Given the description of an element on the screen output the (x, y) to click on. 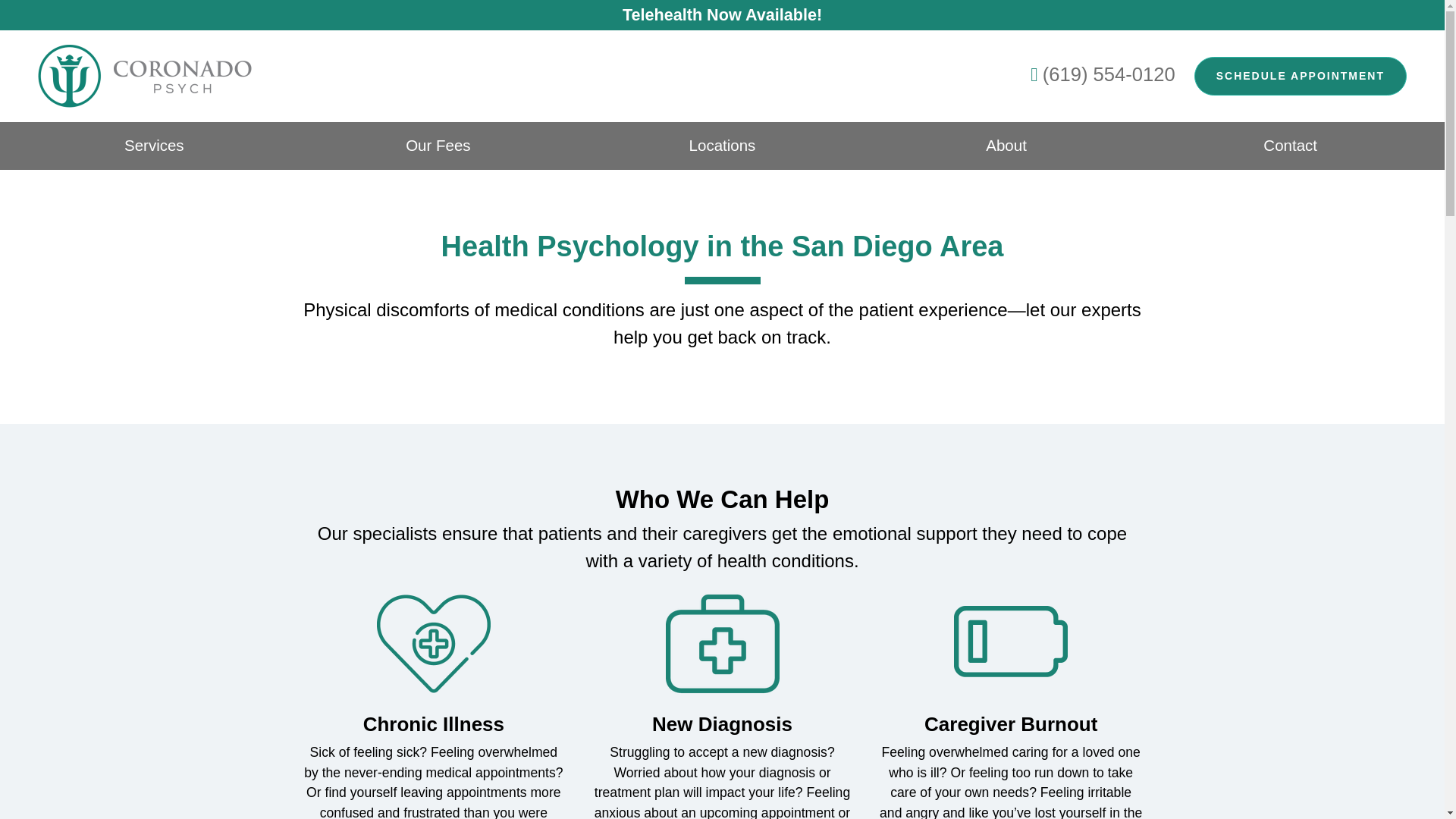
Services (154, 145)
SCHEDULE APPOINTMENT (1299, 75)
Locations (721, 145)
Services (154, 145)
Telehealth Now Available! (722, 14)
About (1006, 145)
About (1006, 145)
Contact (1290, 145)
Coronado Psych (113, 76)
Our Fees (438, 145)
Our Fees (438, 145)
Locations (721, 145)
